Given the description of an element on the screen output the (x, y) to click on. 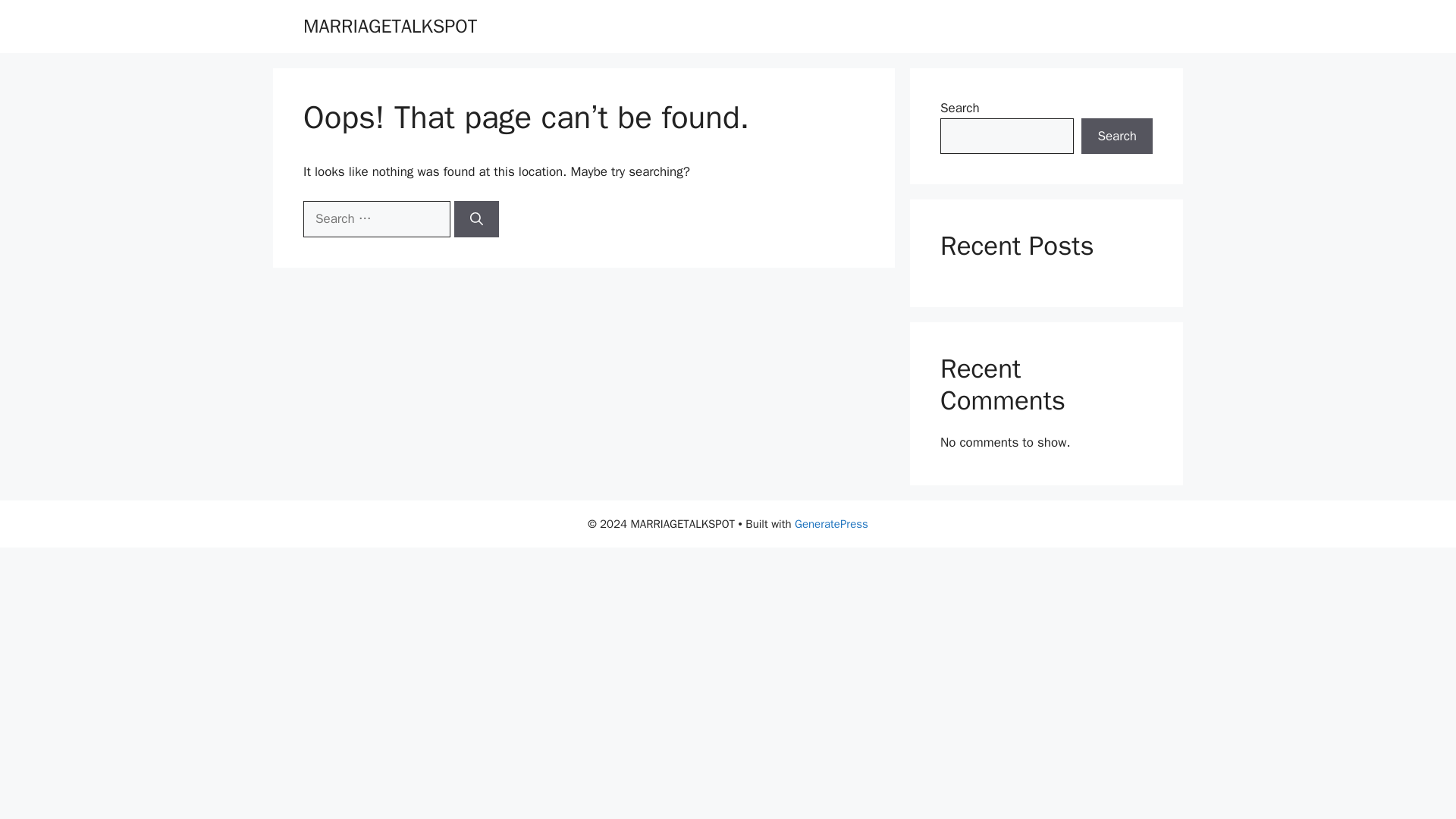
GeneratePress (830, 523)
MARRIAGETALKSPOT (389, 25)
Search (1117, 135)
Search for: (375, 218)
